Given the description of an element on the screen output the (x, y) to click on. 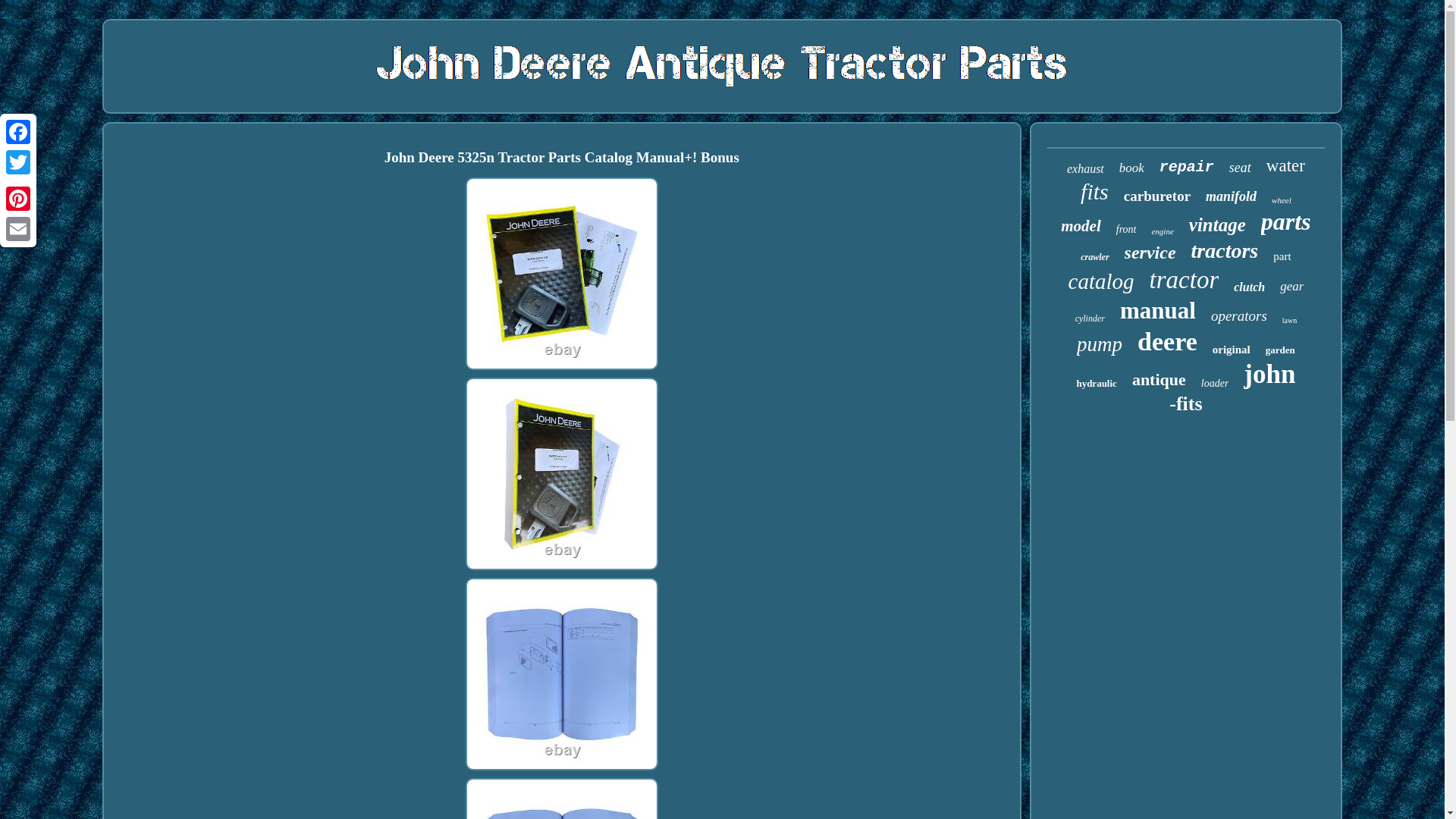
tractors (1225, 250)
front (1126, 229)
Facebook (17, 132)
Pinterest (17, 198)
gear (1291, 286)
repair (1186, 167)
vintage (1217, 224)
service (1150, 252)
manifold (1230, 196)
model (1080, 226)
